Given the description of an element on the screen output the (x, y) to click on. 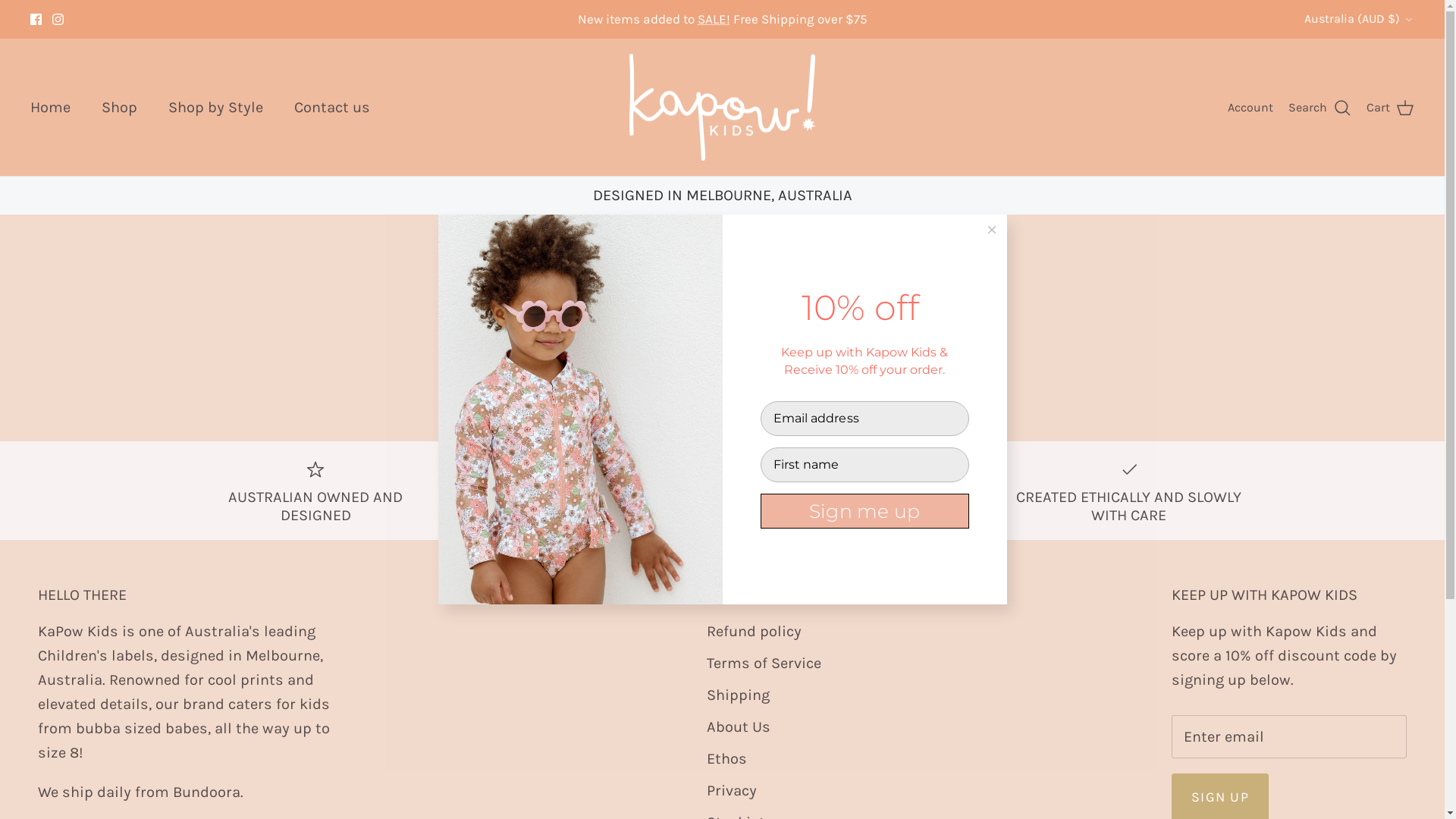
Sign me up Element type: text (863, 510)
KaPow Kids Clothing Element type: hover (722, 107)
Ethos Element type: text (726, 758)
FREE SHIPPING OVER $75 Element type: text (858, 481)
SALE! Element type: text (713, 18)
Privacy Element type: text (731, 790)
Refund policy Element type: text (753, 631)
Shop Element type: text (118, 107)
Search Element type: text (1319, 107)
Shop by Style Element type: text (215, 107)
Australia (AUD $)
Down Element type: text (1359, 18)
AUSTRALIAN OWNED AND DESIGNED Element type: text (315, 490)
Terms of Service Element type: text (763, 662)
About Us Element type: text (738, 726)
home page Element type: text (774, 352)
FAST SHIPPING FROM MELBOURNE Element type: text (586, 481)
Facebook Element type: text (35, 19)
try a search Element type: text (875, 352)
Home Element type: text (50, 107)
Account Element type: text (1250, 107)
Cart Element type: text (1390, 107)
Contact us Element type: text (331, 107)
Shipping Element type: text (737, 694)
Instagram Element type: text (57, 19)
